Given the description of an element on the screen output the (x, y) to click on. 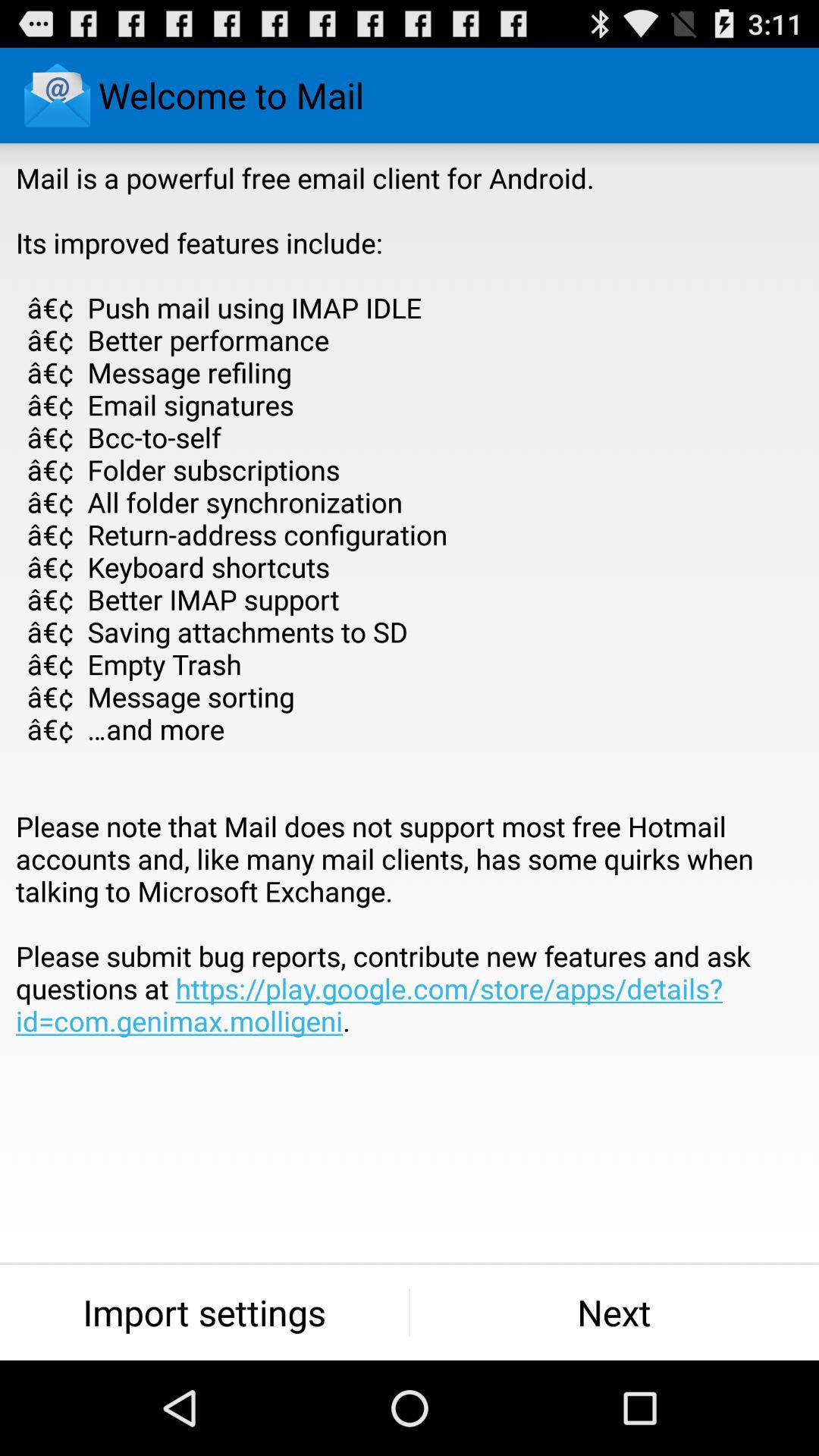
turn on the button next to next (204, 1312)
